Given the description of an element on the screen output the (x, y) to click on. 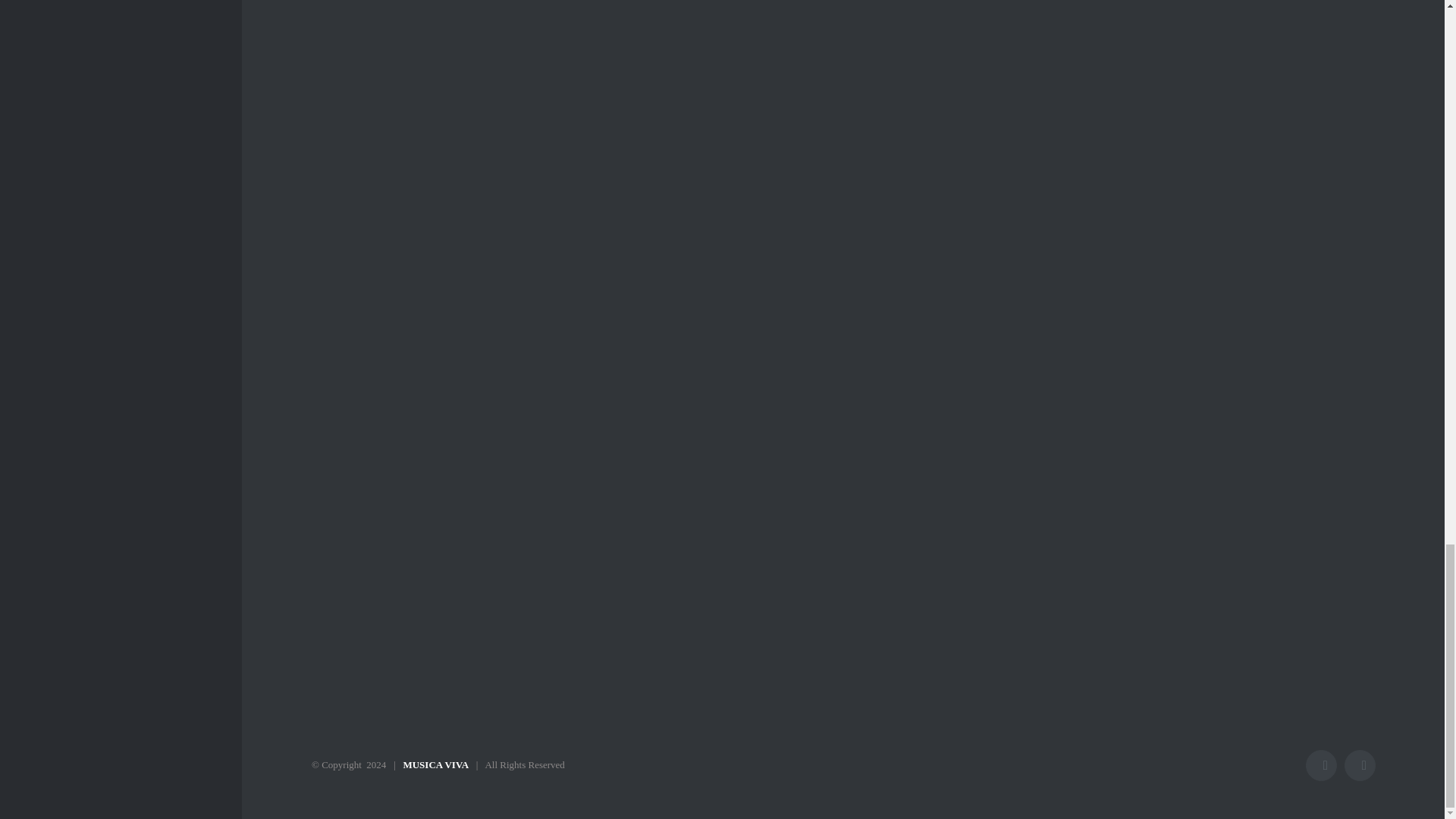
Vimeo (1359, 765)
Facebook (1321, 765)
Facebook (1321, 765)
Vimeo (1359, 765)
